Given the description of an element on the screen output the (x, y) to click on. 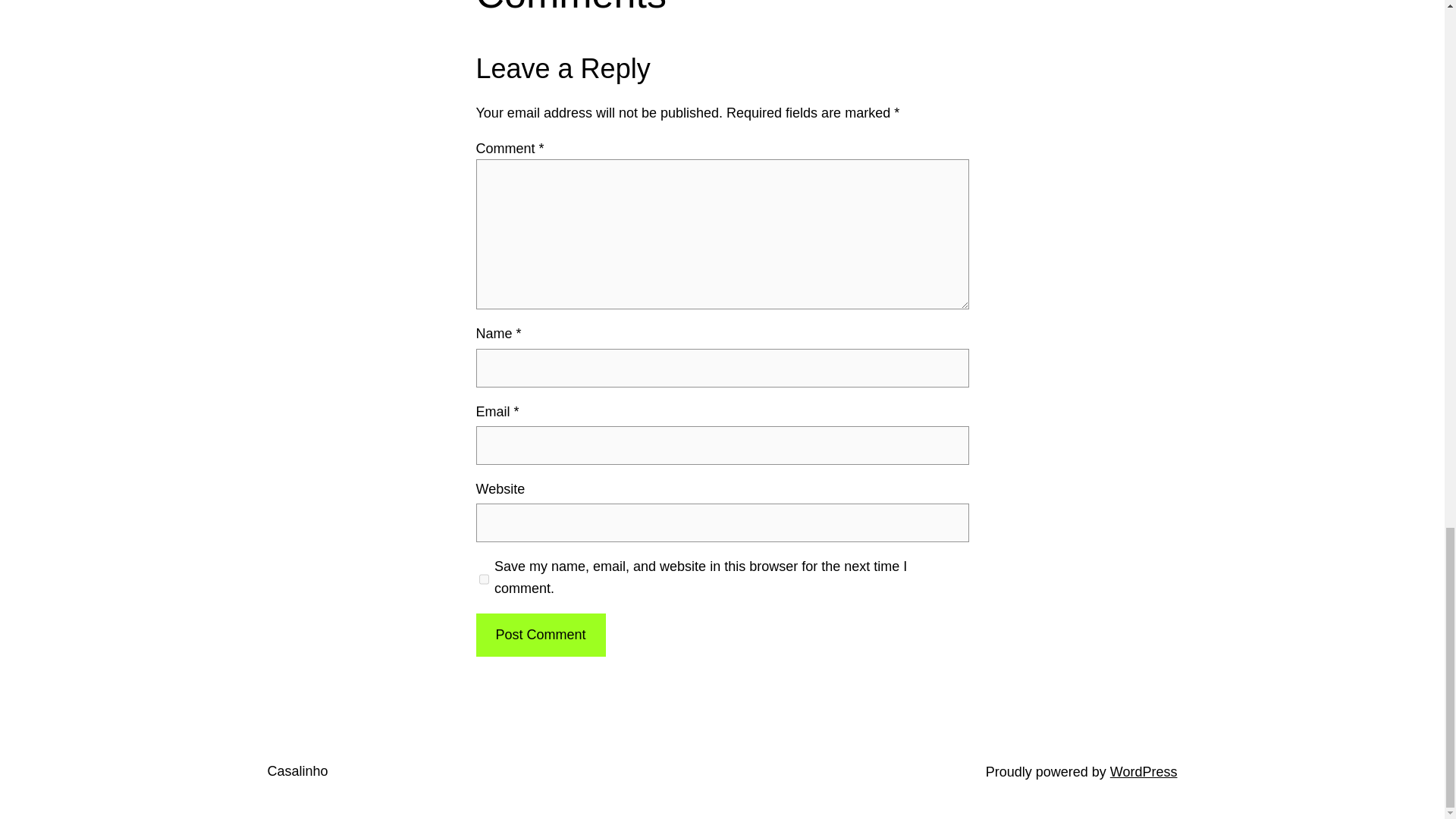
Post Comment (540, 634)
Post Comment (540, 634)
Casalinho (296, 770)
